Given the description of an element on the screen output the (x, y) to click on. 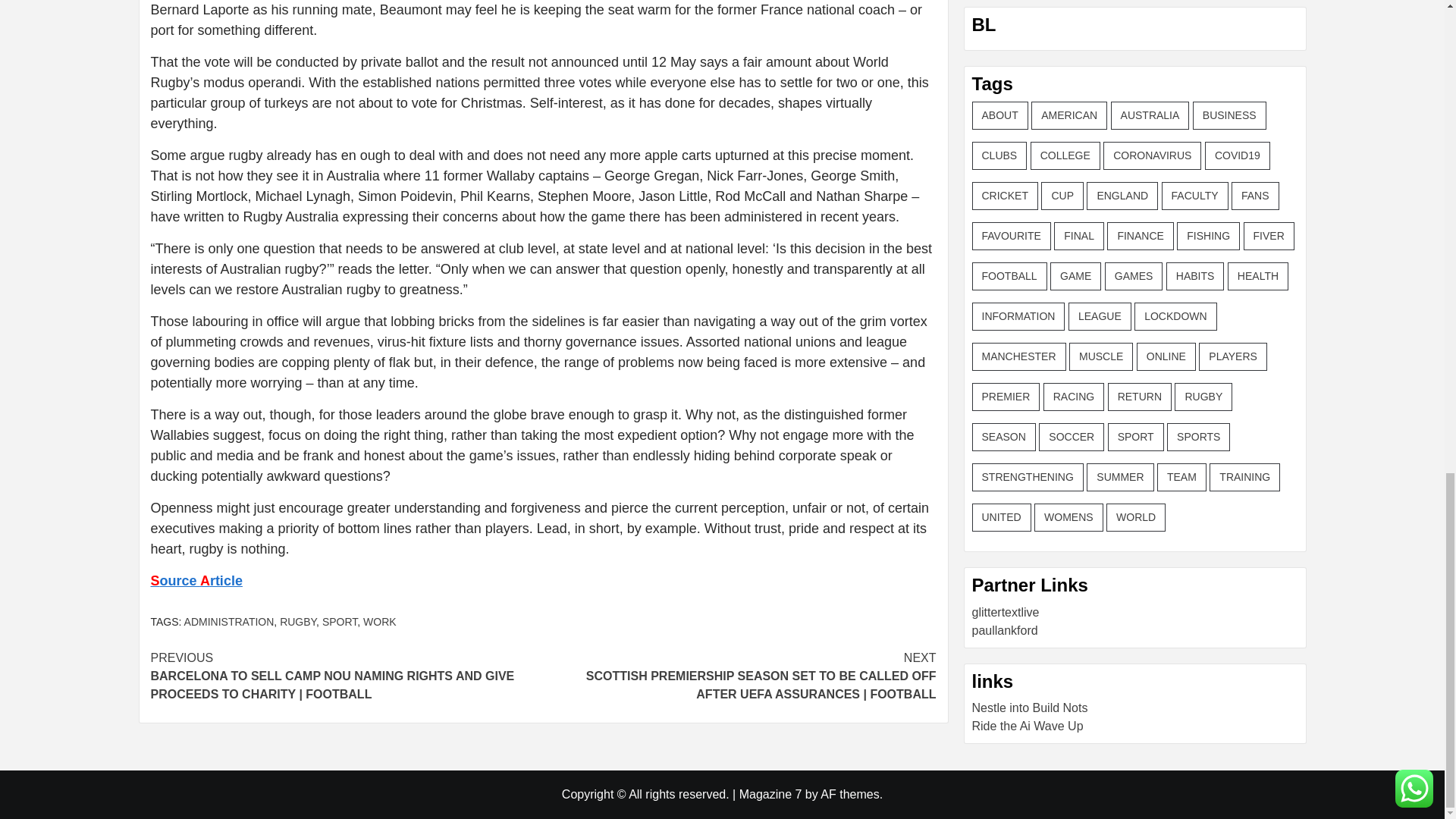
ADMINISTRATION (229, 621)
RUGBY (297, 621)
Source Article (195, 580)
SPORT (338, 621)
AMERICAN (1068, 115)
WORK (379, 621)
ABOUT (999, 115)
